Given the description of an element on the screen output the (x, y) to click on. 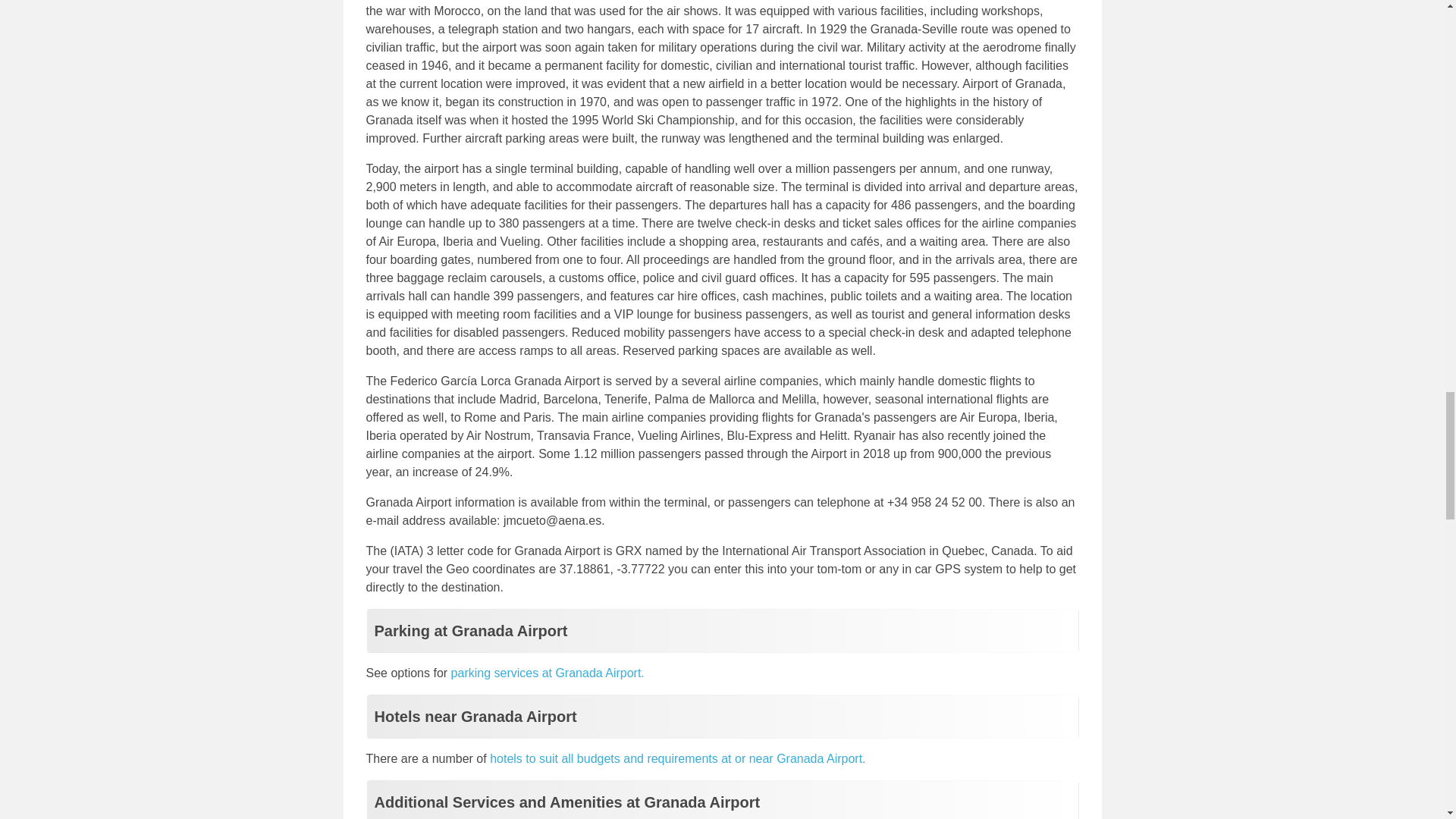
Hotels (676, 758)
Parking (548, 672)
